Given the description of an element on the screen output the (x, y) to click on. 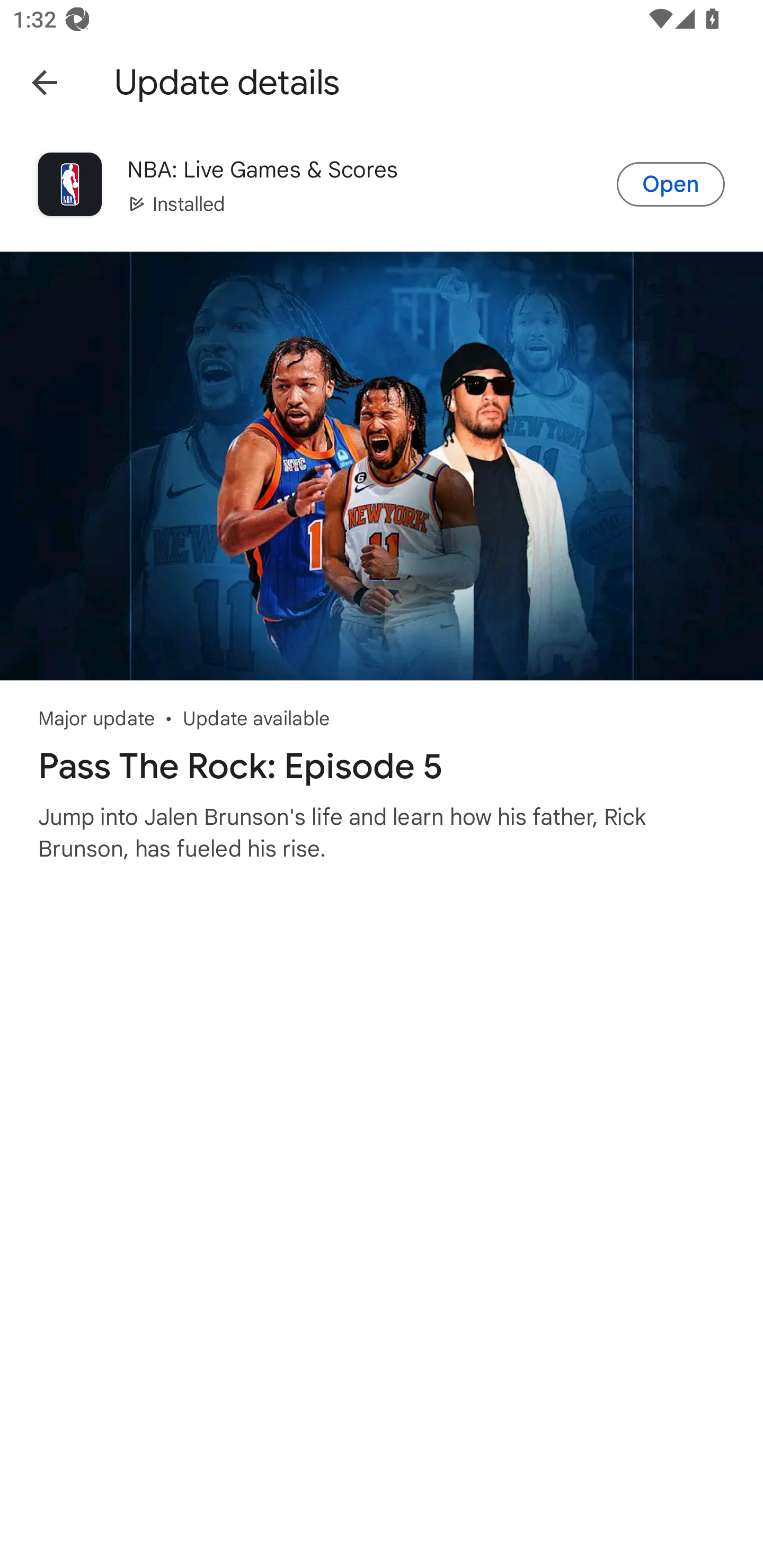
Navigate up (44, 81)
Open (670, 183)
NBA: Live Games & Scores
Installed
 Open Open (381, 185)
